Given the description of an element on the screen output the (x, y) to click on. 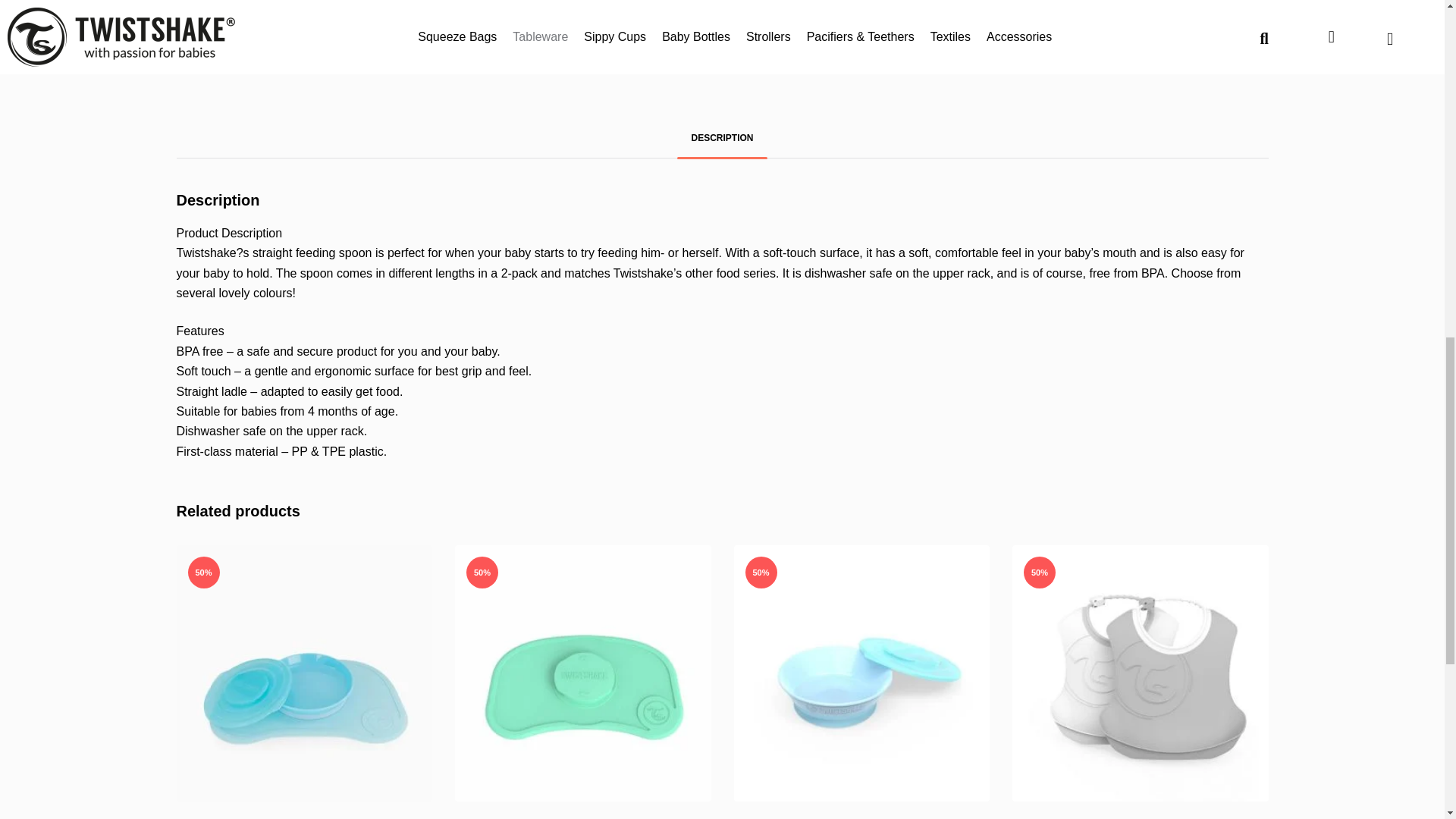
78335 (582, 673)
78198 (449, 37)
78150 (861, 673)
78597 (1139, 673)
